Given the description of an element on the screen output the (x, y) to click on. 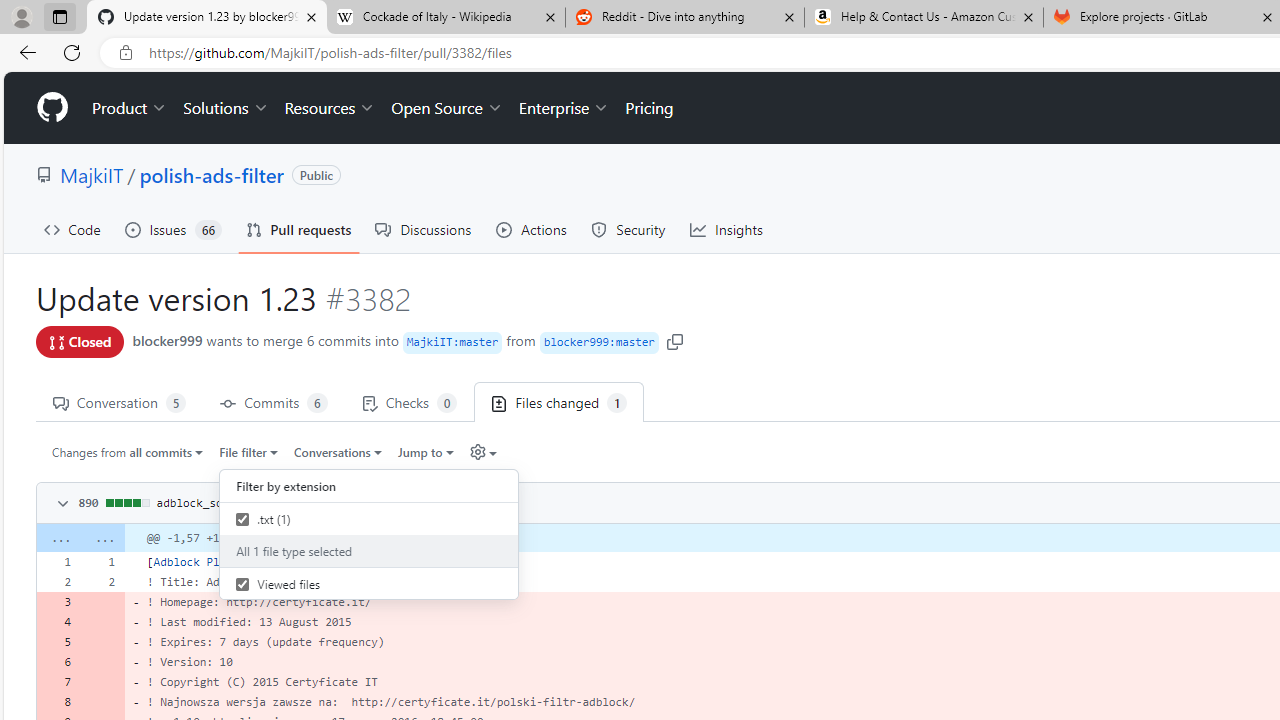
Actions (531, 229)
blocker999 : master (598, 342)
All 1 file type selected (369, 550)
8 (58, 701)
Insights (726, 229)
... (102, 538)
2 (102, 581)
 Conversation 5 (119, 401)
Copy (476, 501)
4 (58, 622)
Jump to (426, 451)
Enterprise (563, 107)
Diff settings (482, 451)
blocker999 (167, 340)
Open Source (446, 107)
